Given the description of an element on the screen output the (x, y) to click on. 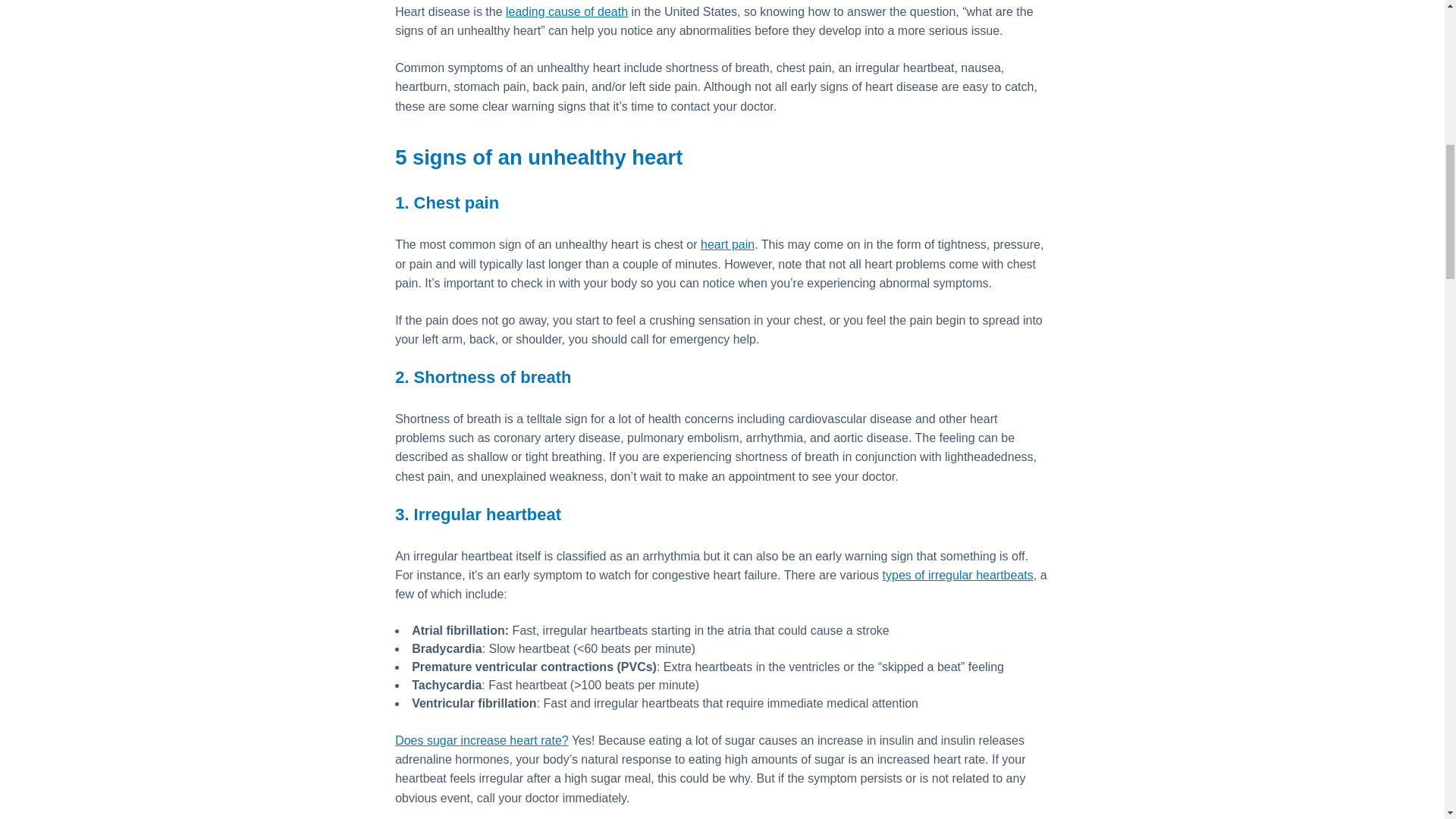
heart pain (727, 244)
Does sugar increase heart rate? (481, 739)
leading cause of death (566, 11)
types of irregular heartbeats (957, 574)
